Given the description of an element on the screen output the (x, y) to click on. 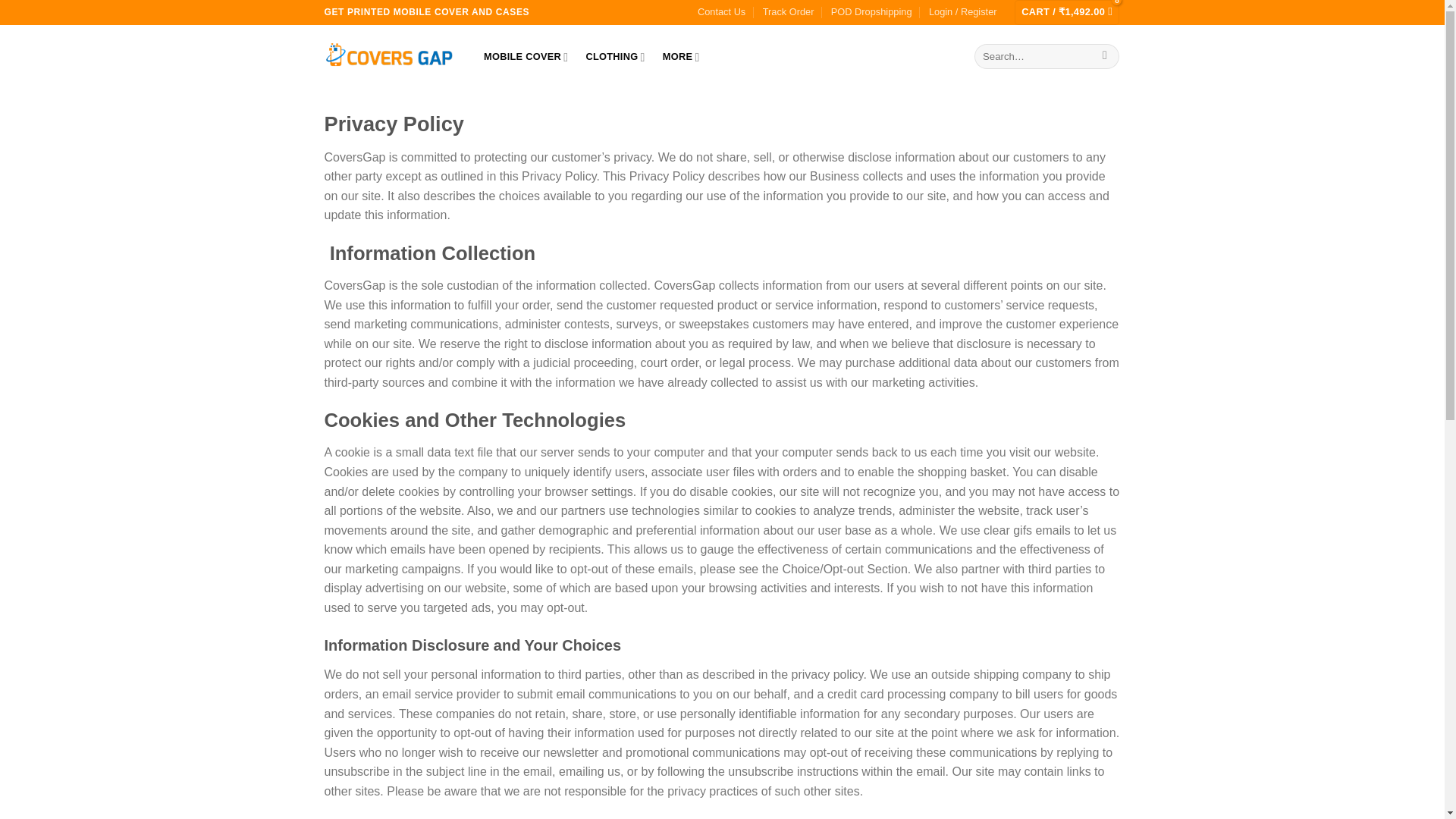
Track Order (787, 11)
CoversGap - Best Selling Mobile Cover and Customize T-shirts (388, 55)
CLOTHING (614, 57)
Cart (1066, 12)
POD Dropshipping (871, 11)
Contact Us (721, 11)
MOBILE COVER (525, 57)
